Given the description of an element on the screen output the (x, y) to click on. 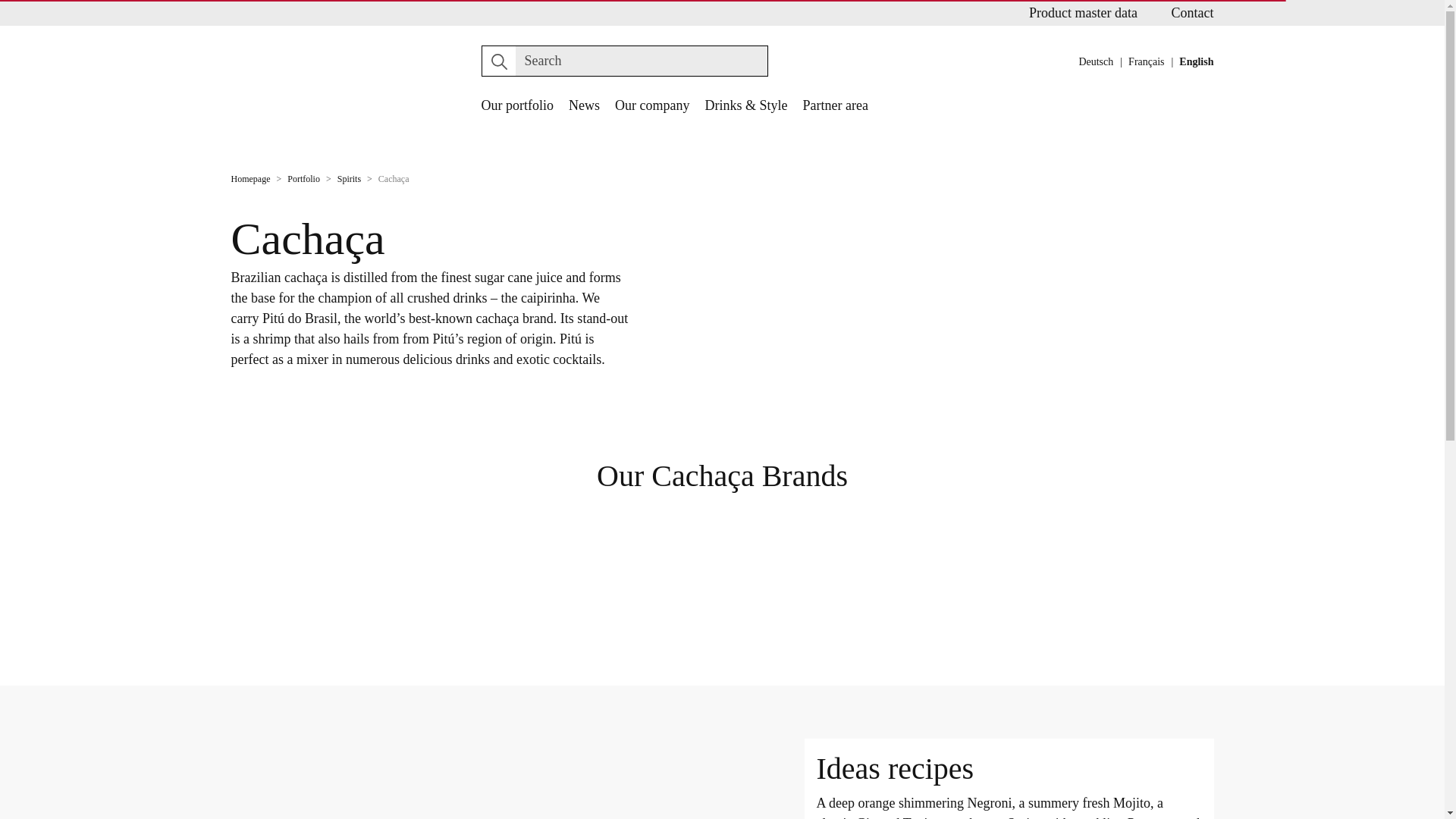
Contact (1191, 12)
search (499, 61)
search (498, 60)
English (1195, 61)
Our company (651, 105)
Product master data (1083, 12)
Deutsch (1095, 61)
News (584, 105)
Partner area (834, 105)
Our portfolio (516, 105)
